Given the description of an element on the screen output the (x, y) to click on. 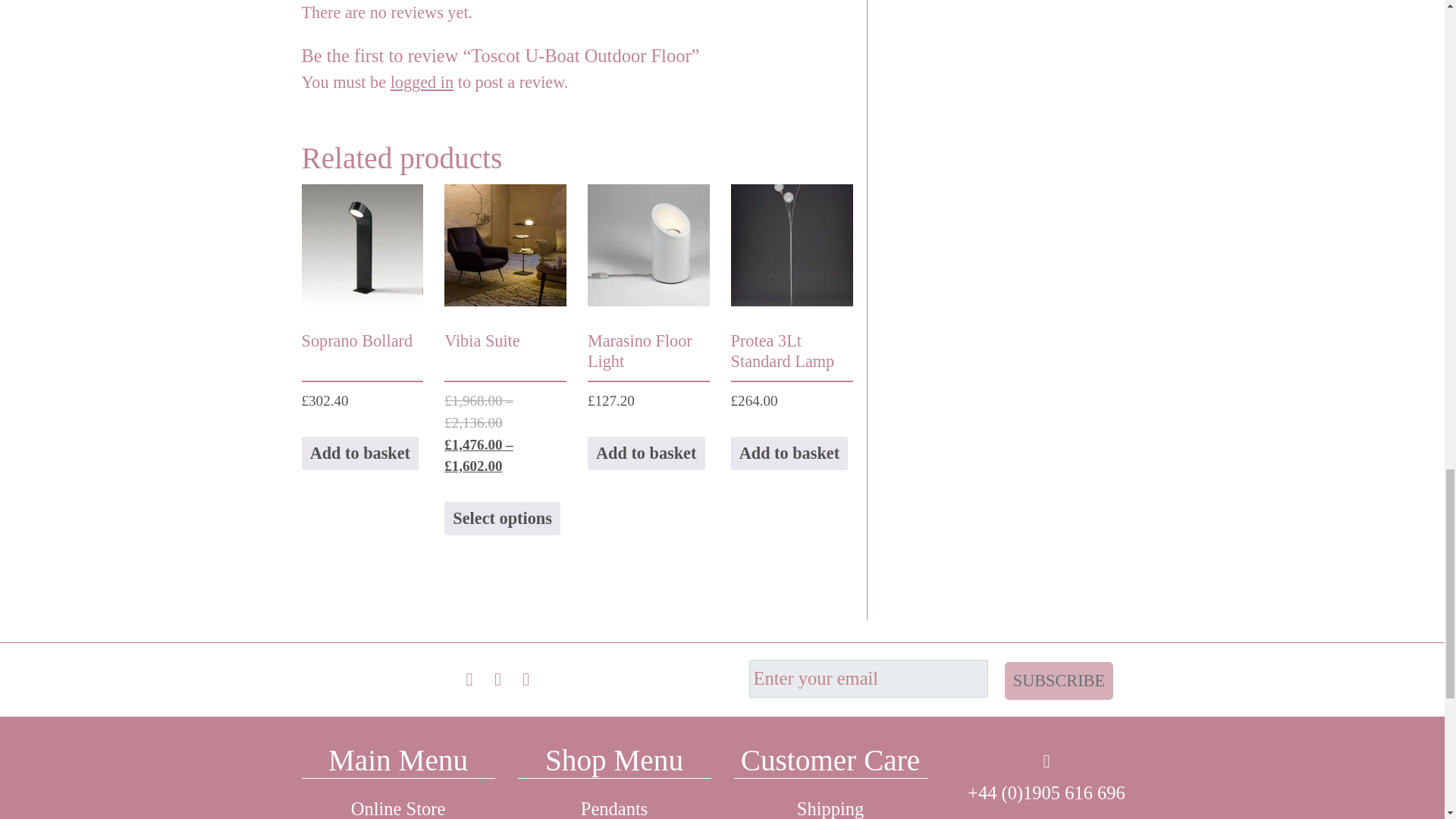
logged in (422, 81)
Add to basket (646, 453)
Select options (502, 519)
Add to basket (360, 453)
Online Store (398, 803)
